Given the description of an element on the screen output the (x, y) to click on. 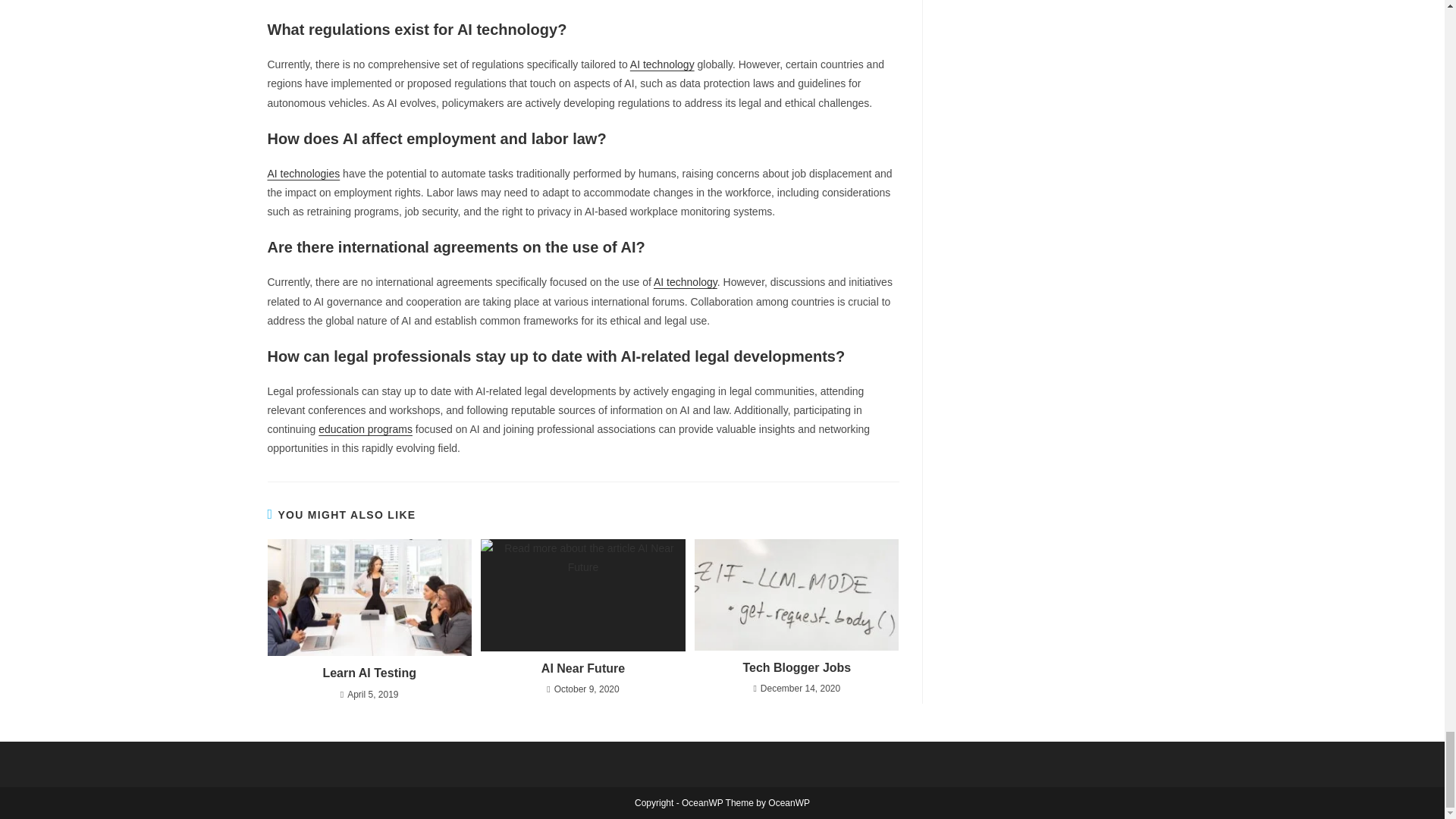
AI technology (685, 282)
education programs (365, 428)
AI technology (662, 64)
Learn AI Testing (368, 673)
AI technologies (302, 173)
